Given the description of an element on the screen output the (x, y) to click on. 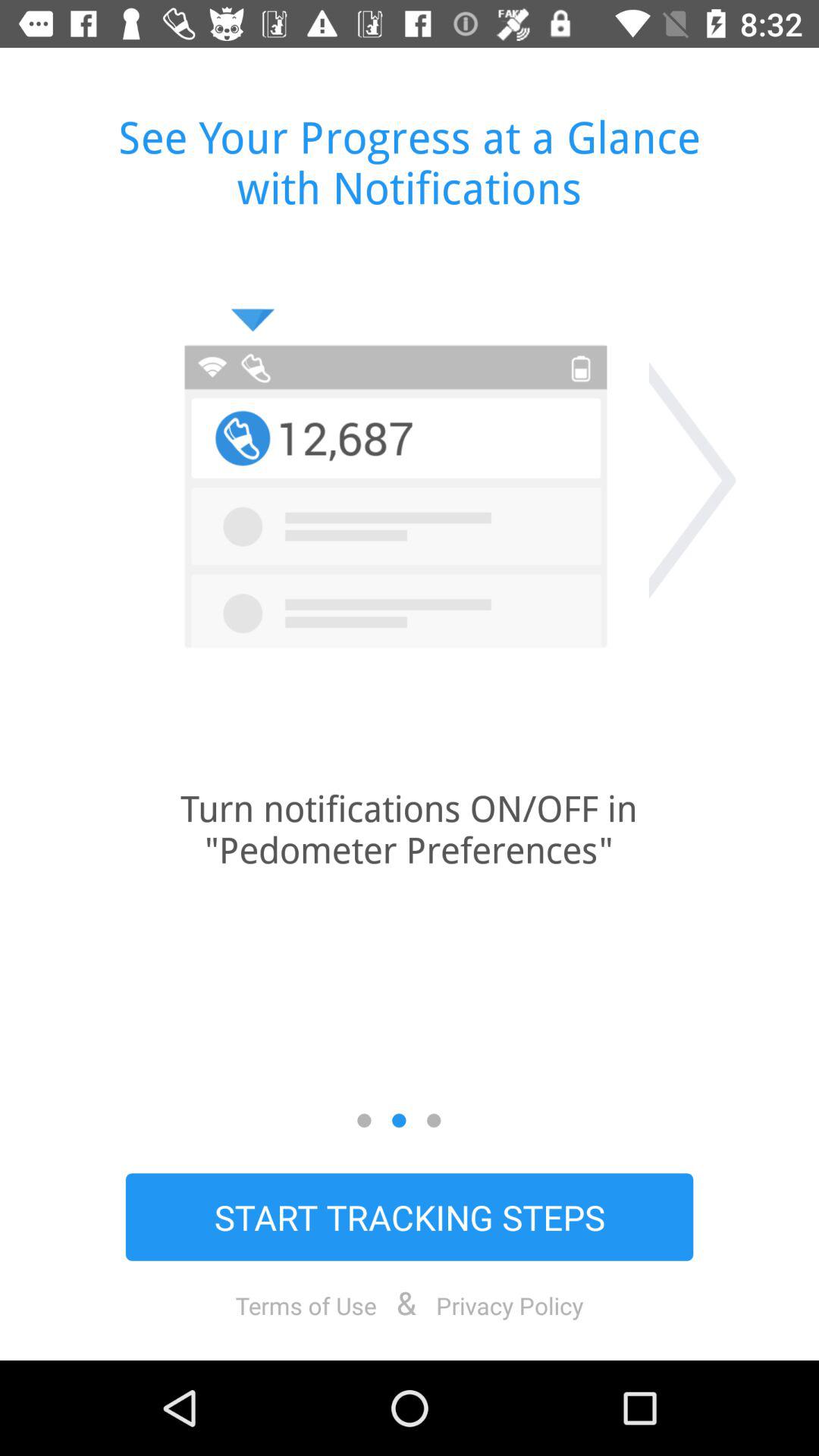
turn on the item to the left of the & (305, 1305)
